Given the description of an element on the screen output the (x, y) to click on. 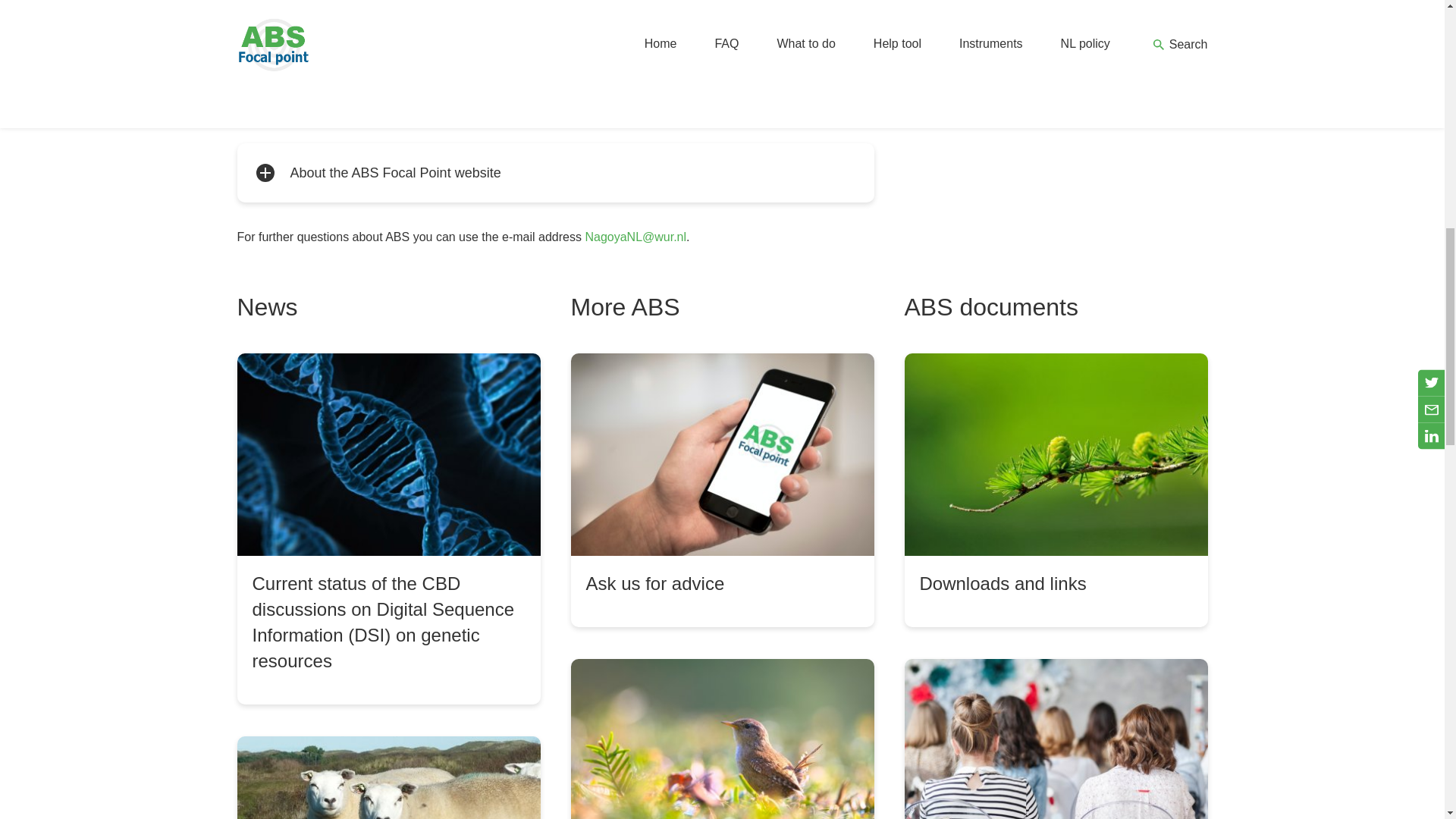
Downloads and links (1055, 489)
About access to Dutch Genetic Resources (554, 90)
Presentations (1055, 739)
Ask us for advice (721, 489)
About the ABS Focal Point website (554, 172)
Access to Dutch Genetic Resources (387, 777)
More about the ABS Focal Point (721, 739)
Access to Dutch Genetic Resources (387, 777)
More about the ABS Focal Point (721, 739)
Ask us for advice (721, 489)
